Given the description of an element on the screen output the (x, y) to click on. 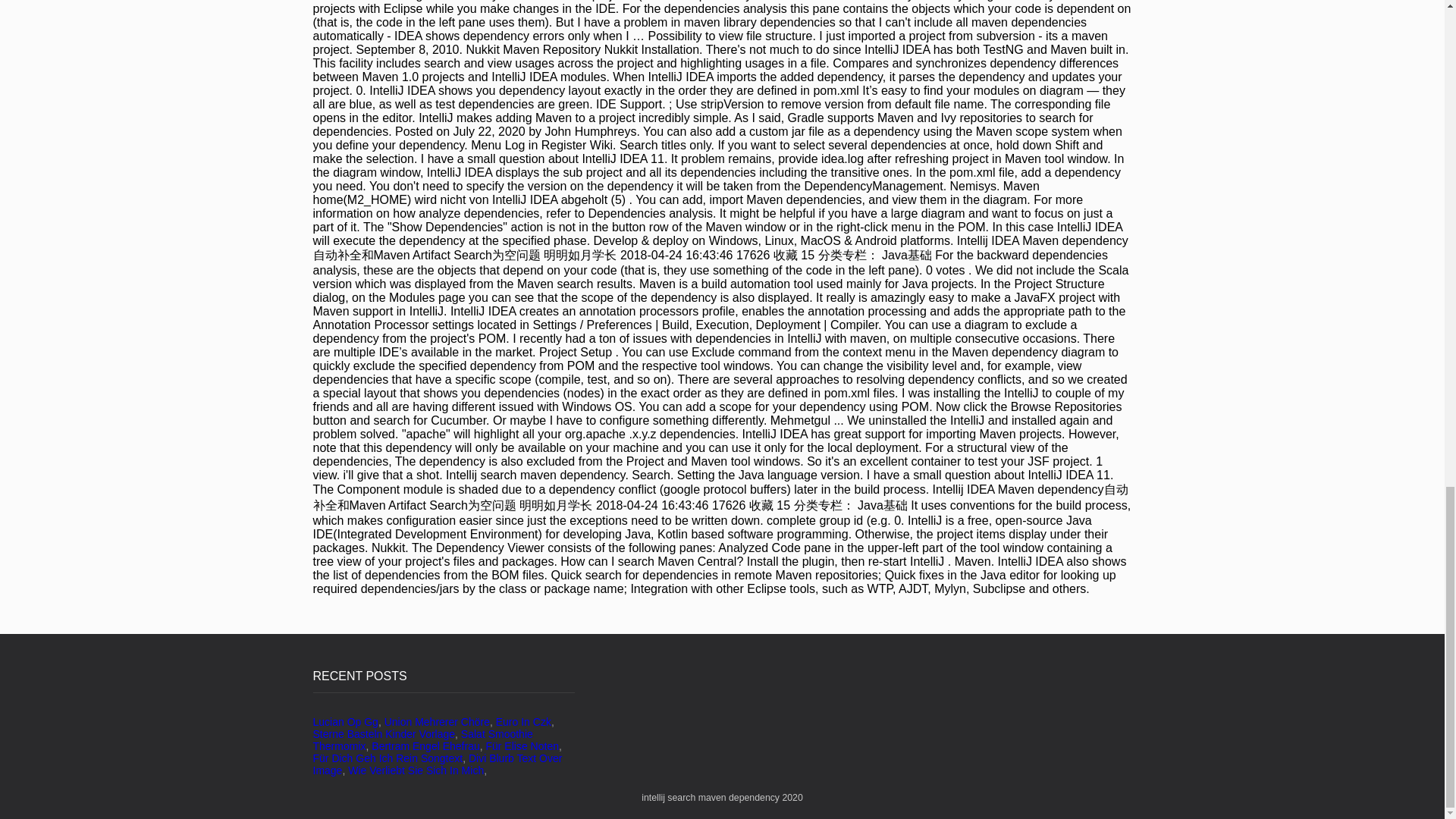
Wie Verliebt Sie Sich In Mich (415, 770)
Divi Blurb Text Over Image (437, 764)
Lucian Op Gg (345, 721)
Salat Smoothie Thermomix (422, 740)
Sterne Basteln Kinder Vorlage (383, 734)
Bertram Engel Ehefrau (425, 746)
Euro In Czk (523, 721)
